Given the description of an element on the screen output the (x, y) to click on. 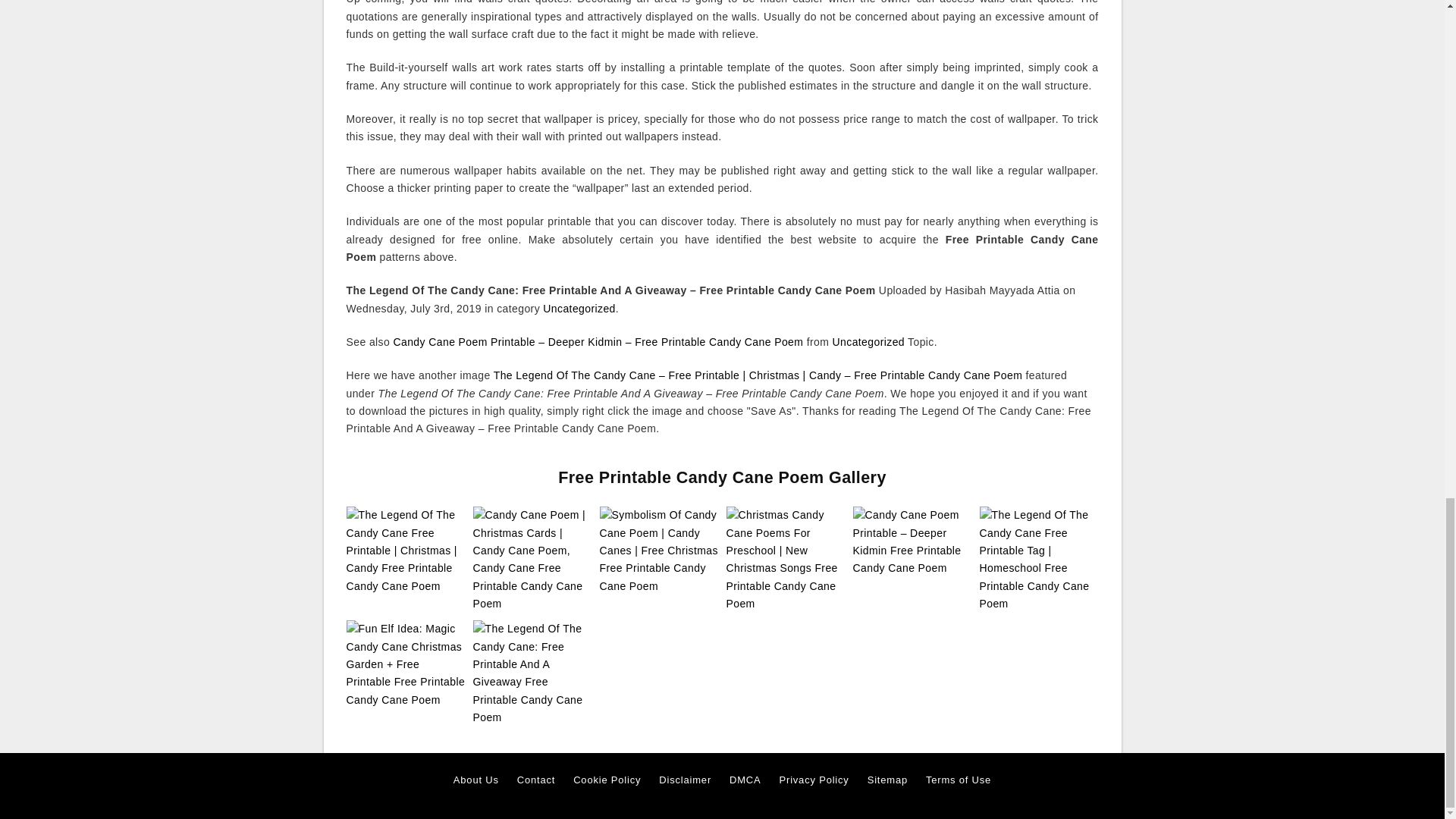
Uncategorized (578, 308)
Disclaimer (685, 780)
DMCA (744, 780)
Privacy Policy (813, 780)
Uncategorized (868, 341)
Sitemap (887, 780)
Cookie Policy (606, 780)
About Us (475, 780)
Contact (535, 780)
